Given the description of an element on the screen output the (x, y) to click on. 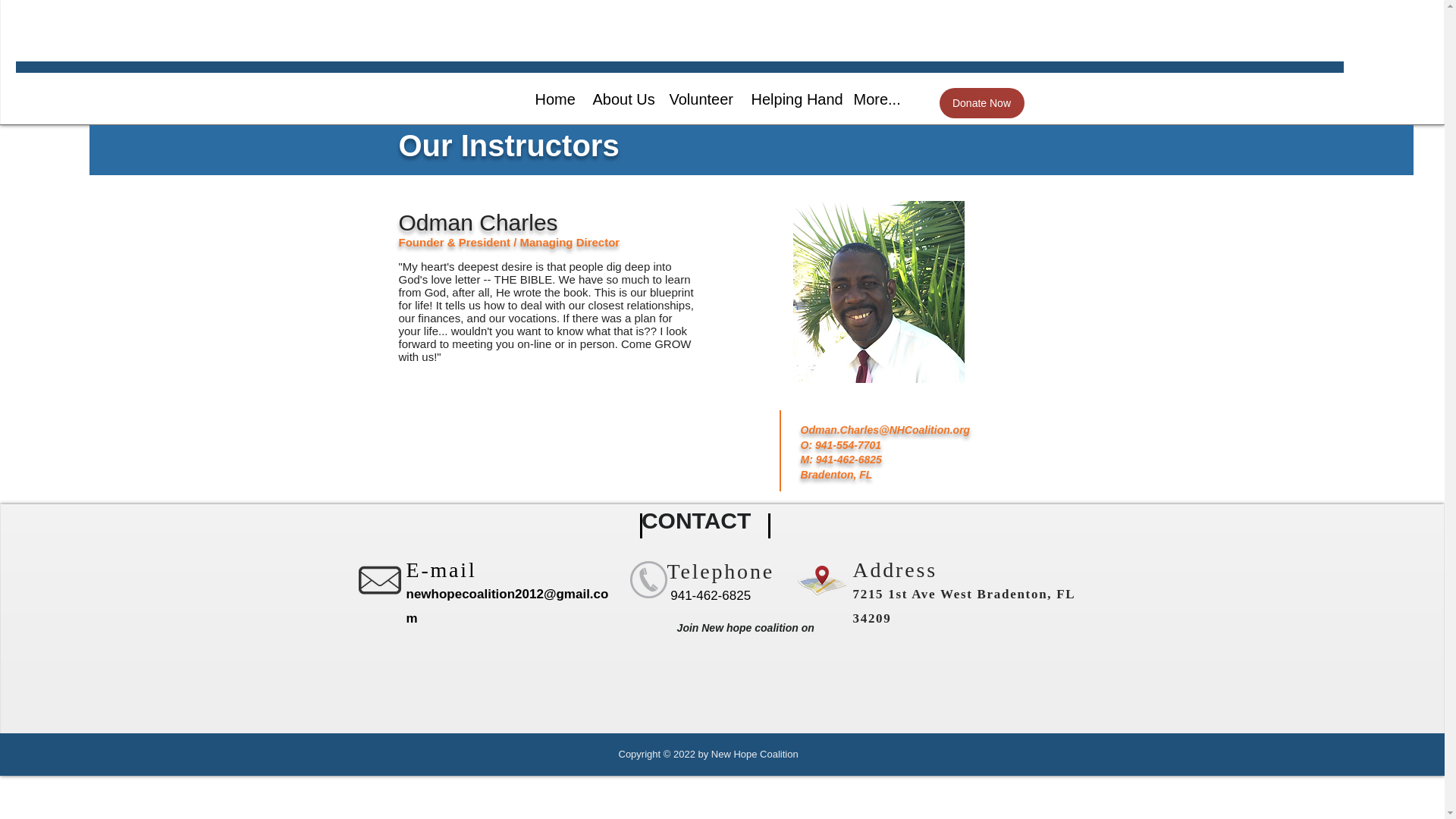
Home (551, 99)
Volunteer (698, 99)
Donate Now (981, 102)
About Us (619, 99)
Helping Hand (791, 99)
